Given the description of an element on the screen output the (x, y) to click on. 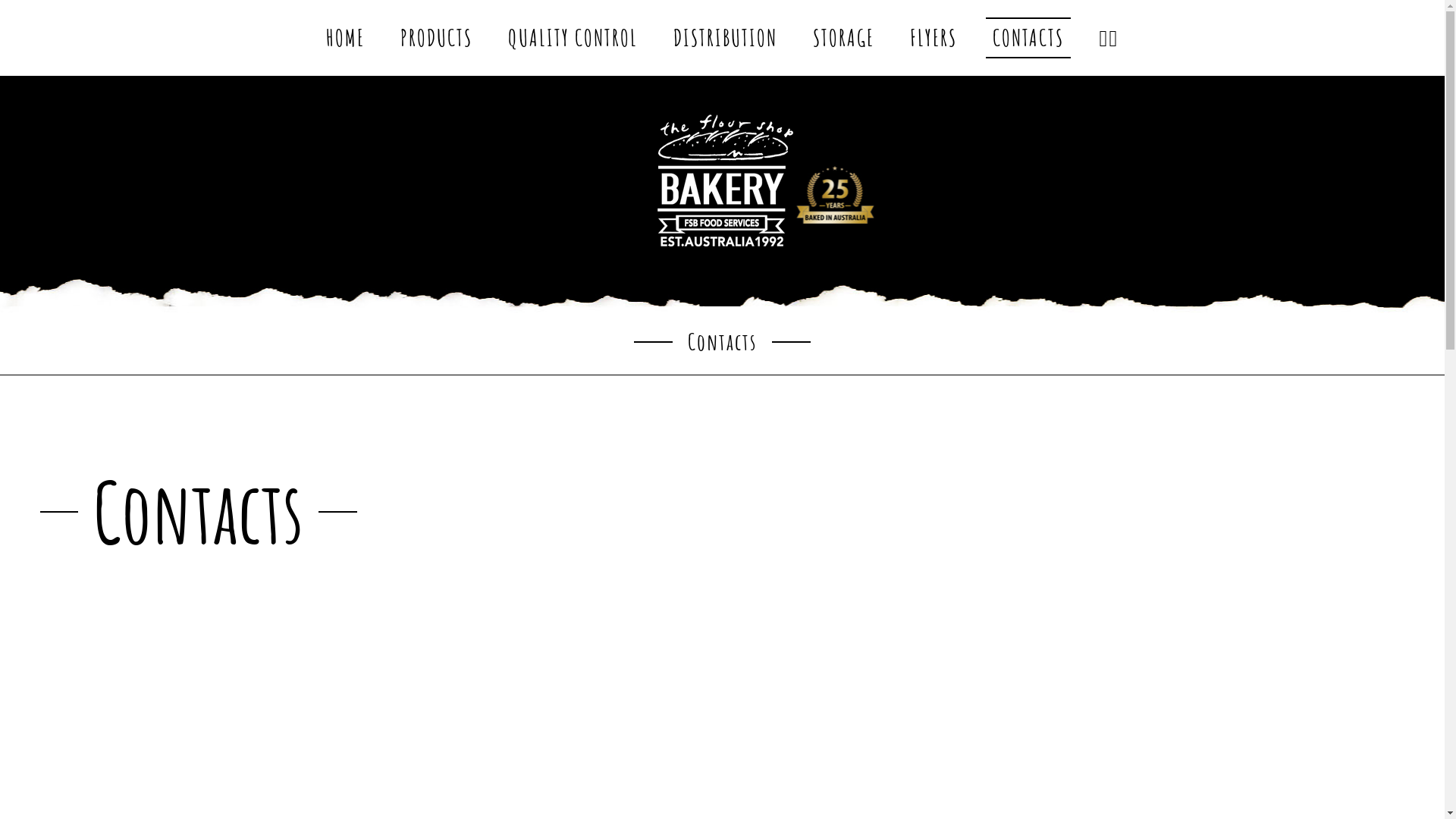
STORAGE Element type: text (843, 37)
HOME Element type: text (345, 37)
QUALITY CONTROL Element type: text (572, 37)
FLYERS Element type: text (933, 37)
CONTACTS Element type: text (1027, 37)
DISTRIBUTION Element type: text (725, 37)
PRODUCTS Element type: text (436, 37)
